Given the description of an element on the screen output the (x, y) to click on. 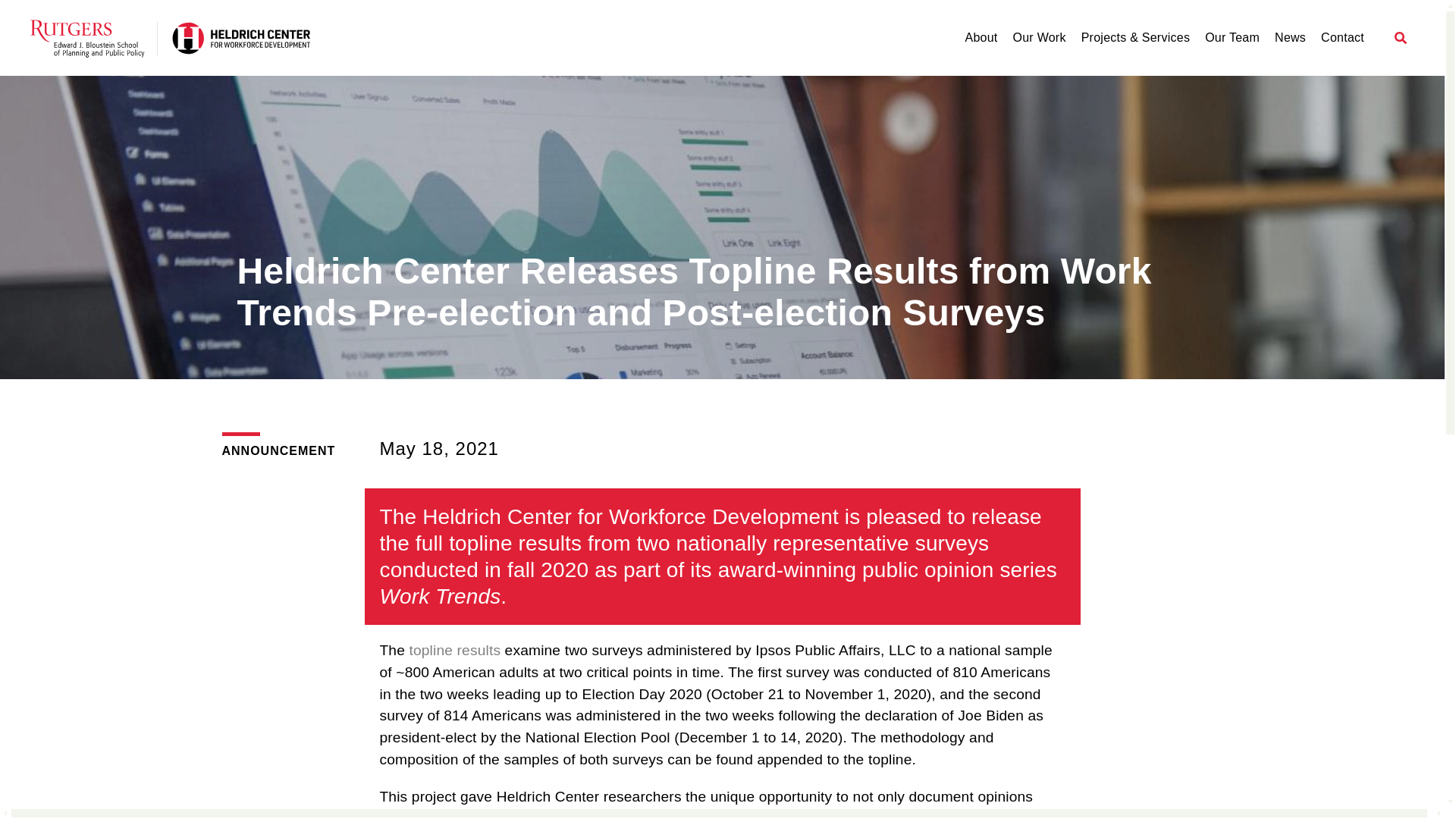
News (1290, 37)
Contact (1342, 37)
